Given the description of an element on the screen output the (x, y) to click on. 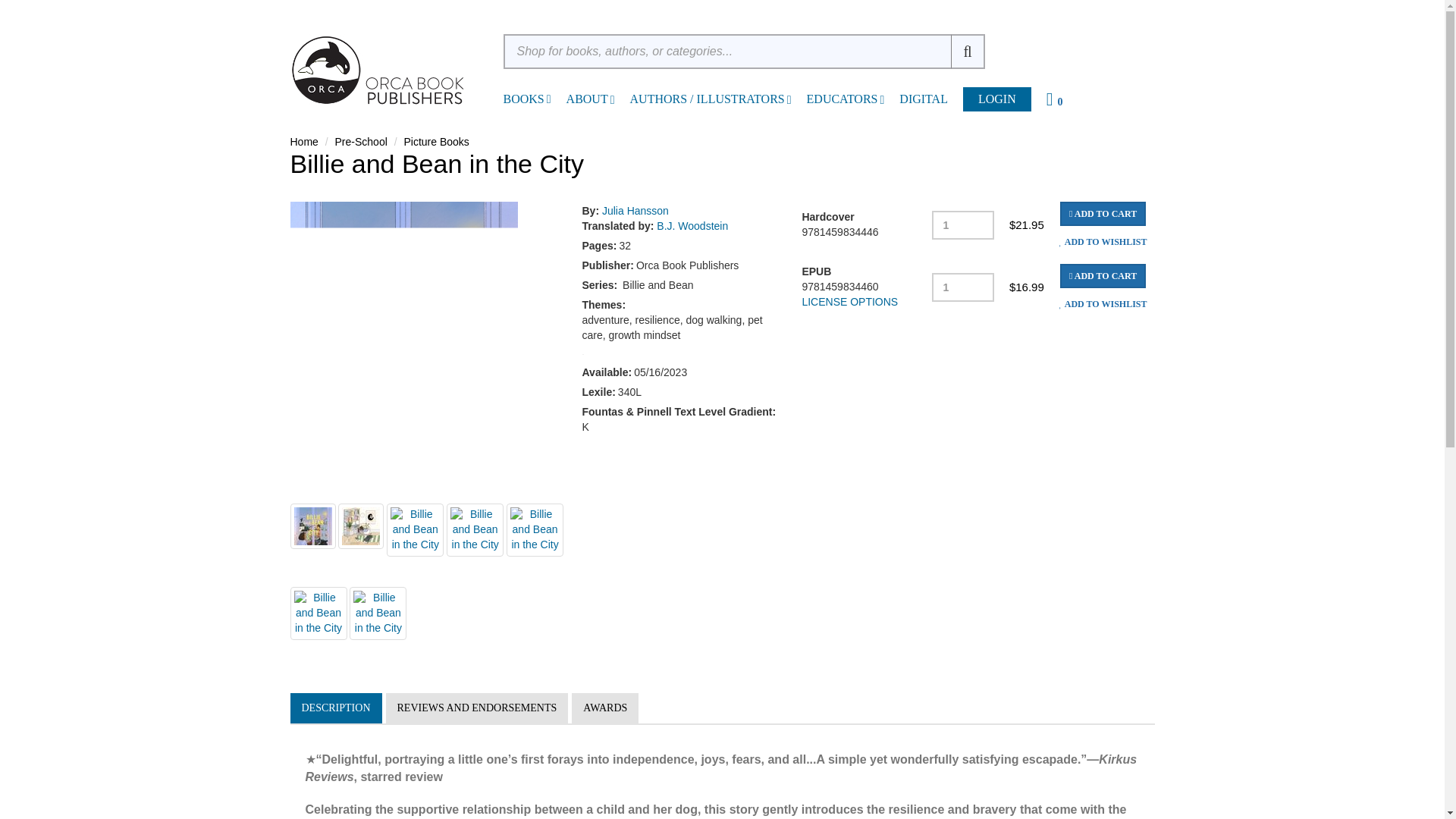
1 (962, 287)
Billie and Bean in the City (311, 609)
1 (962, 224)
Billie and Bean in the City (311, 525)
Billie and Bean in the City (360, 525)
Billie and Bean in the City (360, 609)
Billie and Bean in the City (457, 525)
Billie and Bean in the City (511, 529)
Billie and Bean in the City (409, 525)
BOOKS (523, 98)
